Given the description of an element on the screen output the (x, y) to click on. 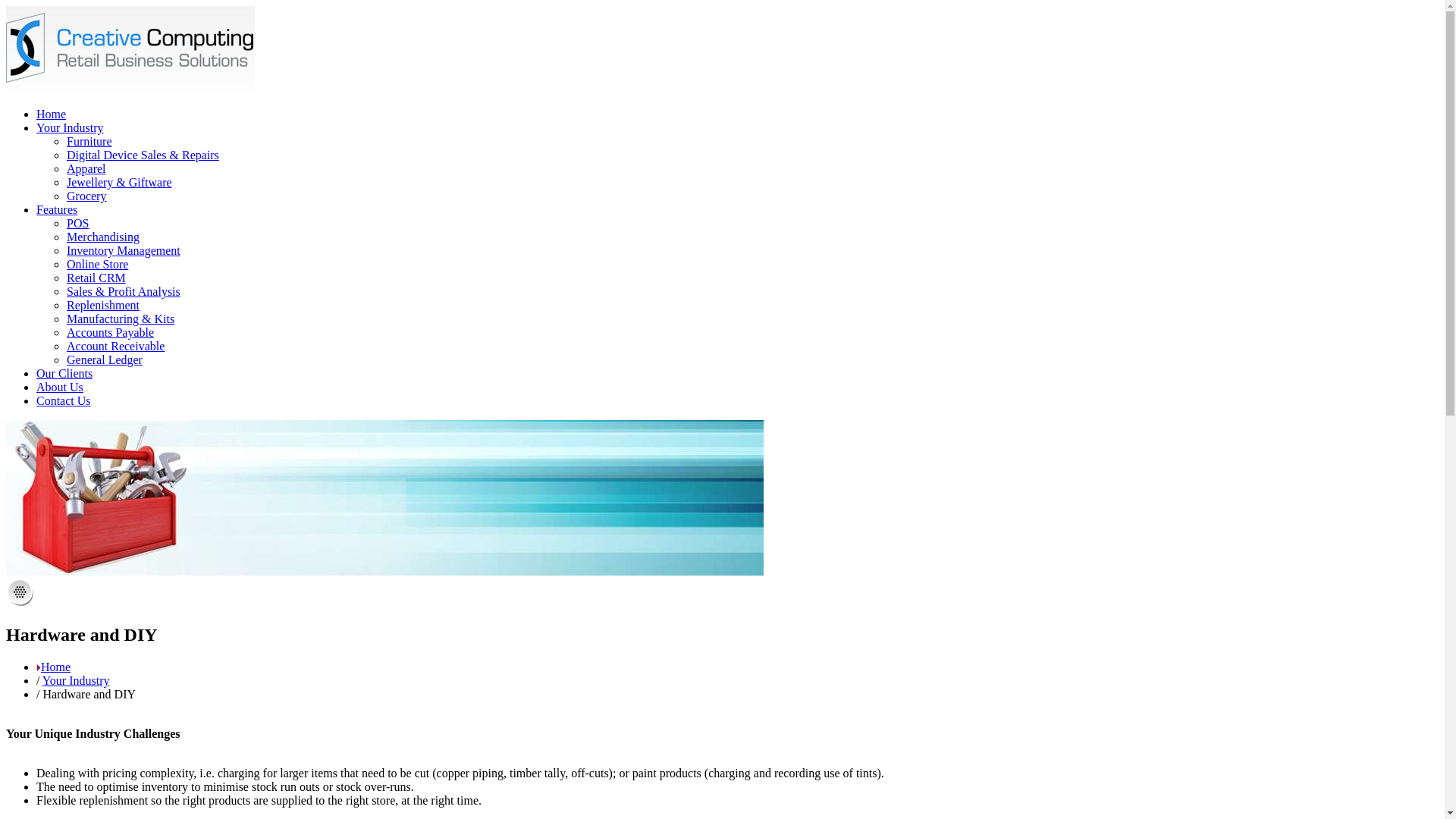
 Creative Computing Element type: hover (130, 49)
Apparel Element type: text (86, 168)
Manufacturing & Kits Element type: text (120, 318)
Your Industry Element type: text (75, 680)
Our Clients Element type: text (64, 373)
Home Element type: text (50, 113)
Home Element type: hover (130, 87)
Home Element type: text (55, 666)
About Us Element type: text (59, 386)
Features Element type: text (56, 209)
Merchandising Element type: text (102, 236)
Skip to main content Element type: text (56, 6)
Inventory Management Element type: text (123, 250)
Account Receivable Element type: text (115, 345)
Digital Device Sales & Repairs Element type: text (142, 154)
Jewellery & Giftware Element type: text (119, 181)
Contact Us Element type: text (63, 400)
Your Industry Element type: text (69, 127)
General Ledger Element type: text (104, 359)
Online Store Element type: text (97, 263)
Grocery Element type: text (86, 195)
Accounts Payable Element type: text (109, 332)
Sales & Profit Analysis Element type: text (123, 291)
Retail CRM Element type: text (95, 277)
POS Element type: text (77, 222)
Furniture Element type: text (89, 140)
Replenishment Element type: text (102, 304)
